Given the description of an element on the screen output the (x, y) to click on. 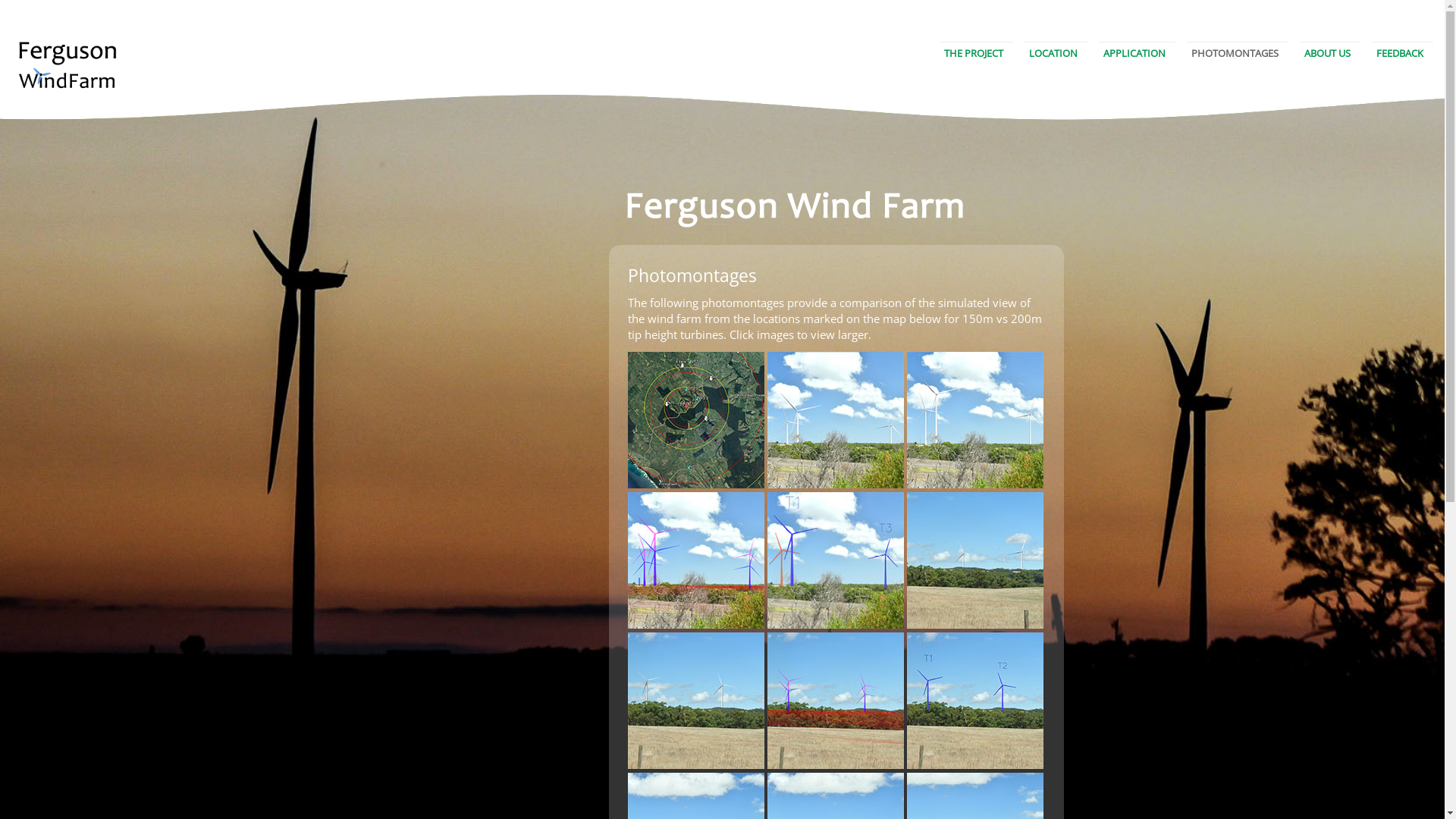
LOCATION Element type: text (1053, 53)
PHOTOMONTAGES Element type: text (1234, 53)
THE PROJECT Element type: text (973, 53)
APPLICATION Element type: text (1134, 53)
ABOUT US Element type: text (1327, 53)
FEEDBACK Element type: text (1399, 53)
